Given the description of an element on the screen output the (x, y) to click on. 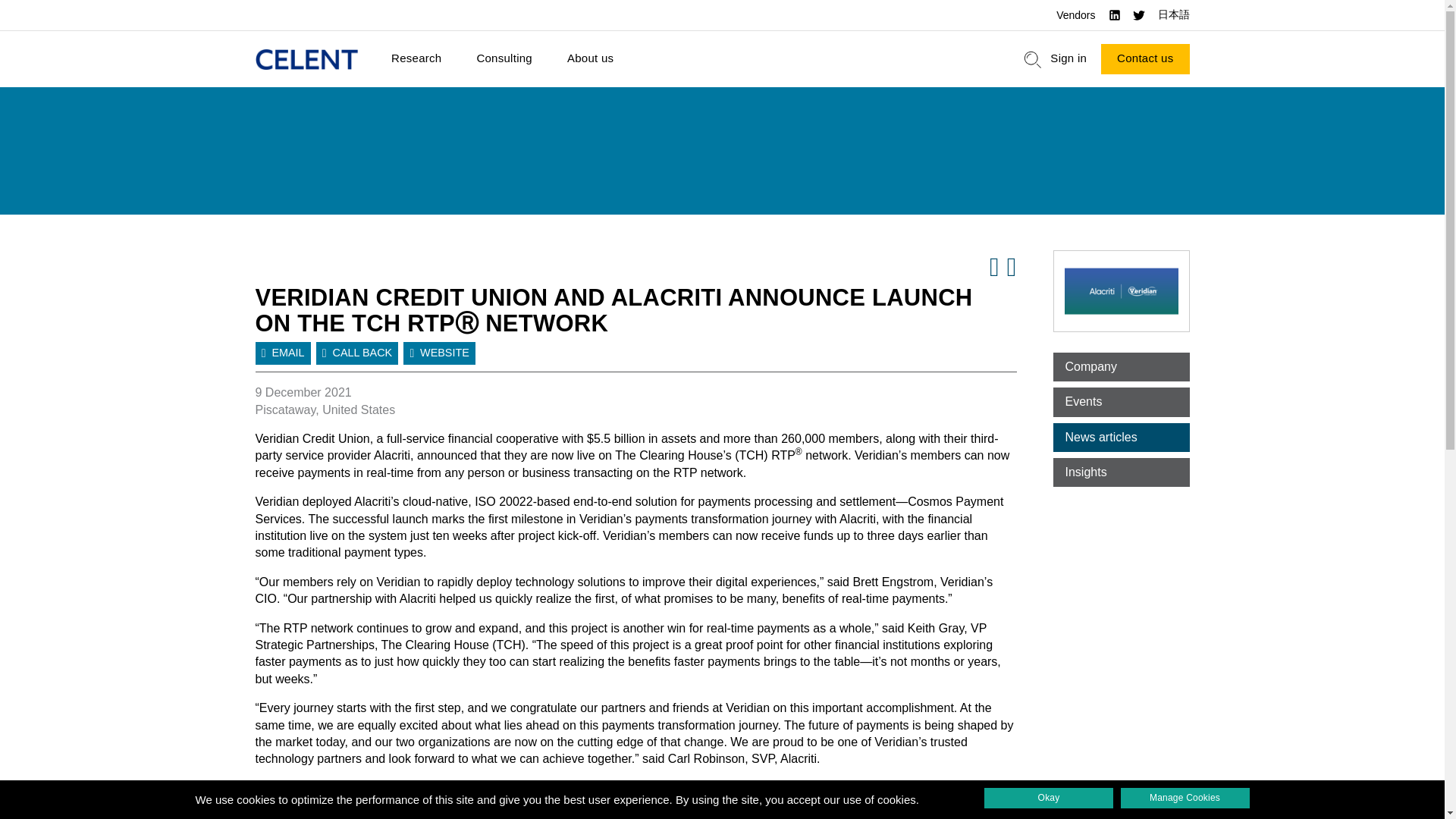
Research (415, 59)
Okay (1048, 797)
Vendors (1075, 15)
Manage Cookies (1185, 797)
About us (590, 59)
Contact us (1144, 59)
Sign in (1068, 59)
search (1032, 58)
Home (306, 59)
Consulting (503, 59)
